Given the description of an element on the screen output the (x, y) to click on. 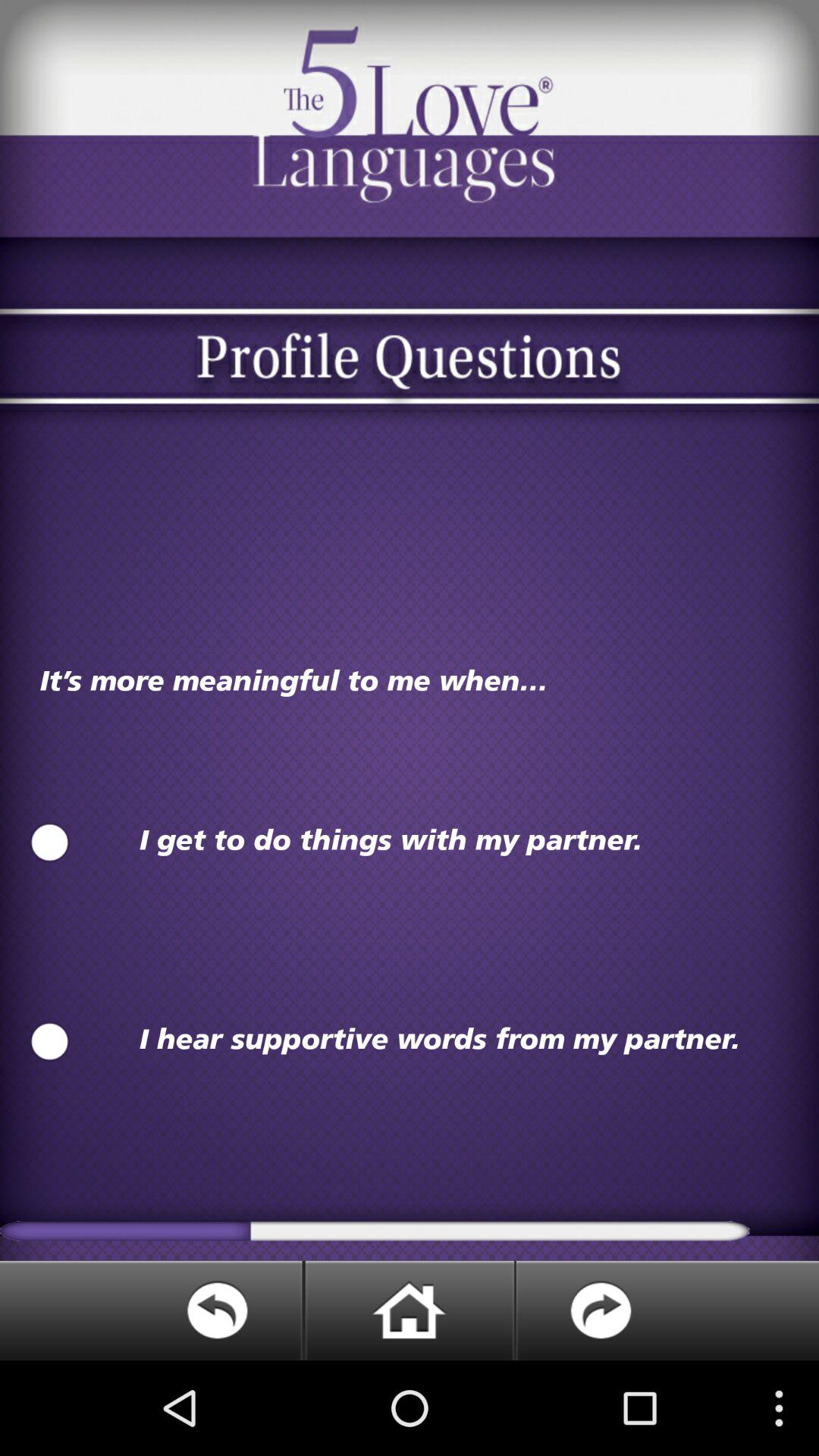
toggle on (49, 1041)
